Given the description of an element on the screen output the (x, y) to click on. 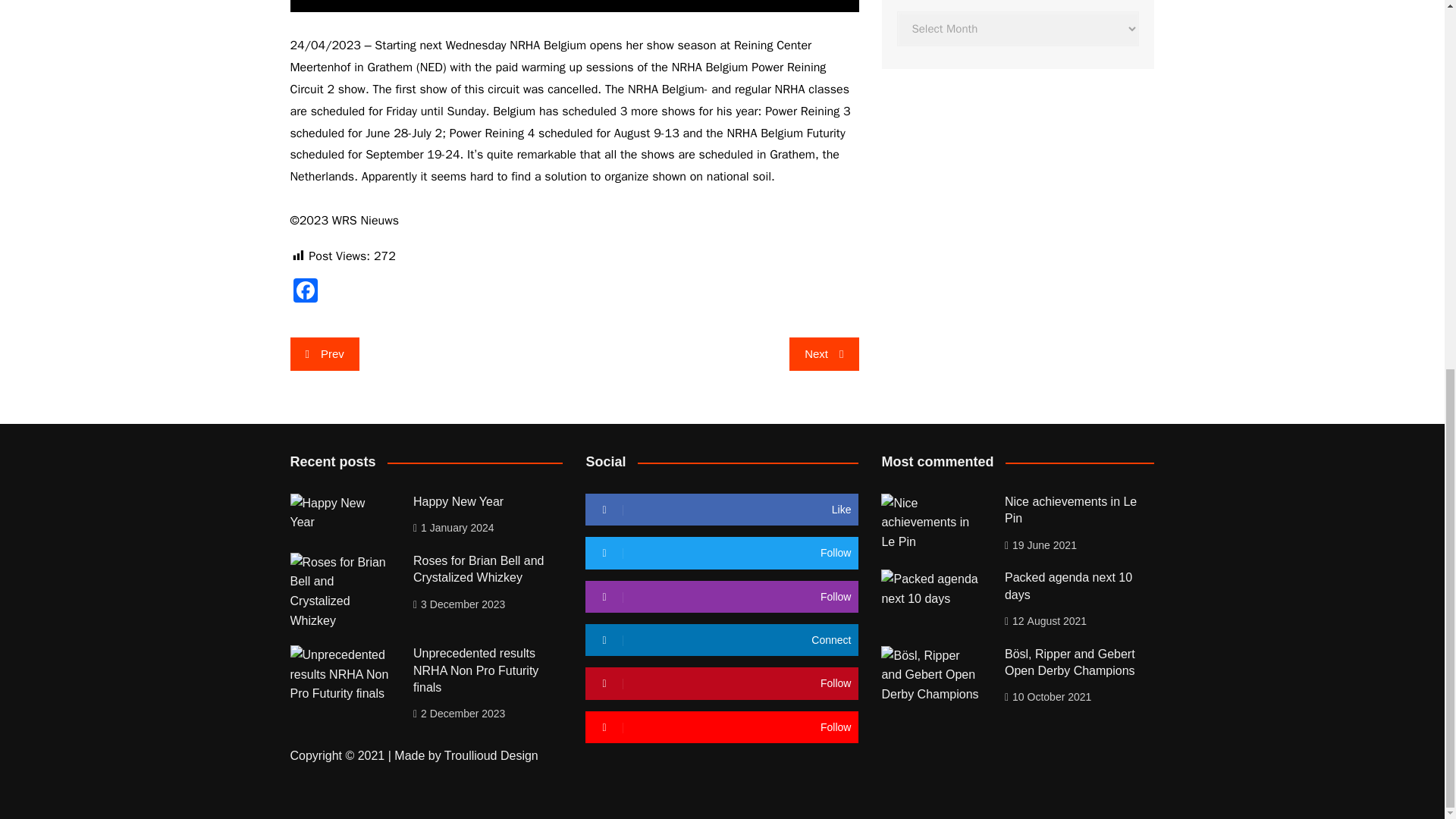
Facebook (304, 292)
Facebook (304, 292)
Next (824, 354)
Follow (722, 596)
1 January 2024 (454, 528)
Follow (722, 552)
Prev (323, 354)
Roses for Brian Bell and Crystalized Whizkey (478, 568)
Unprecedented results NRHA Non Pro Futurity finals (475, 670)
Like (722, 509)
2 December 2023 (459, 713)
3 December 2023 (459, 604)
Happy New Year (458, 501)
